Given the description of an element on the screen output the (x, y) to click on. 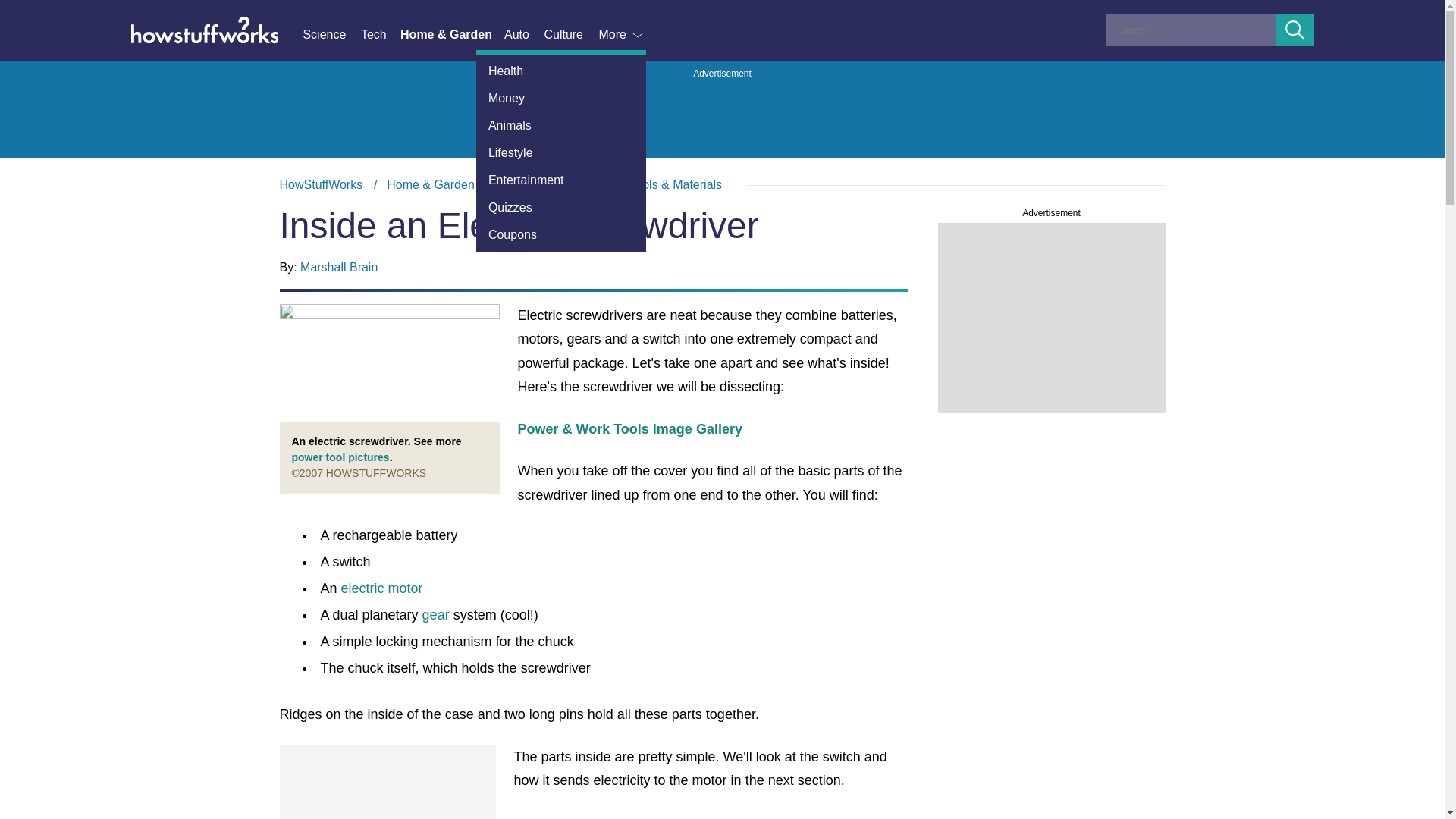
Health (561, 71)
Money (561, 98)
Lifestyle (561, 153)
Quizzes (561, 207)
Marshall Brain (338, 267)
Animals (561, 125)
HowStuffWorks (320, 184)
Submit Search (1295, 29)
More (621, 34)
Science (330, 34)
